Given the description of an element on the screen output the (x, y) to click on. 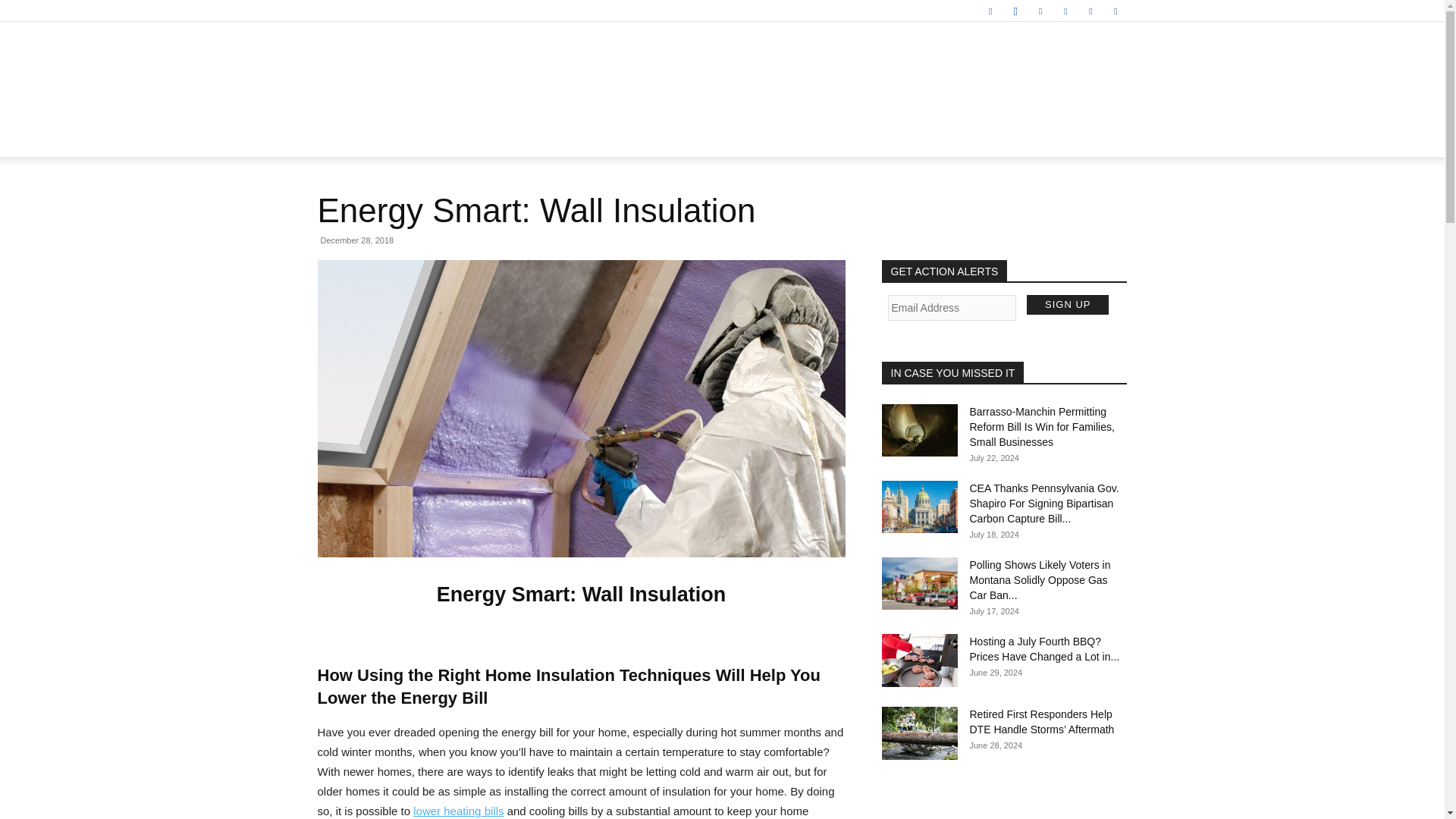
The leading national consumer advocate on energy issues. (721, 72)
Linkedin (1040, 10)
Facebook (989, 10)
RSS (1065, 10)
Twitter (1090, 10)
SIGN UP (1067, 304)
Instagram (1015, 10)
Youtube (1114, 10)
